Given the description of an element on the screen output the (x, y) to click on. 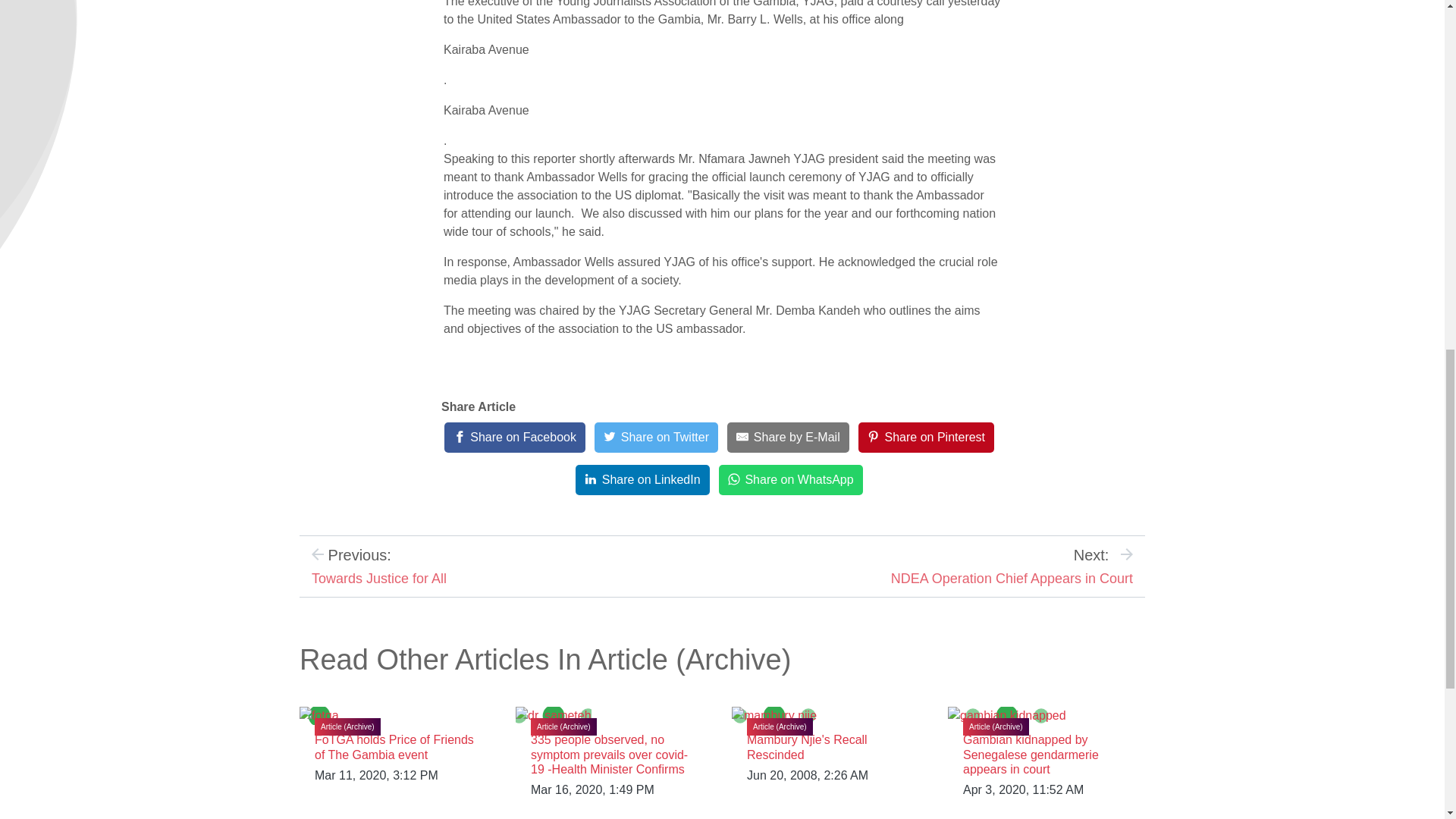
Towards Justice for All (378, 578)
Share by E-Mail (787, 437)
Go to NDEA Operation Chief Appears in Court (1011, 578)
NDEA Operation Chief Appears in Court (1011, 578)
Share on Pinterest (926, 437)
Share on Twitter (655, 437)
Mambury Njie's Recall Rescinded (806, 746)
Go to Towards Justice for All (378, 578)
Share on Facebook (514, 437)
